Given the description of an element on the screen output the (x, y) to click on. 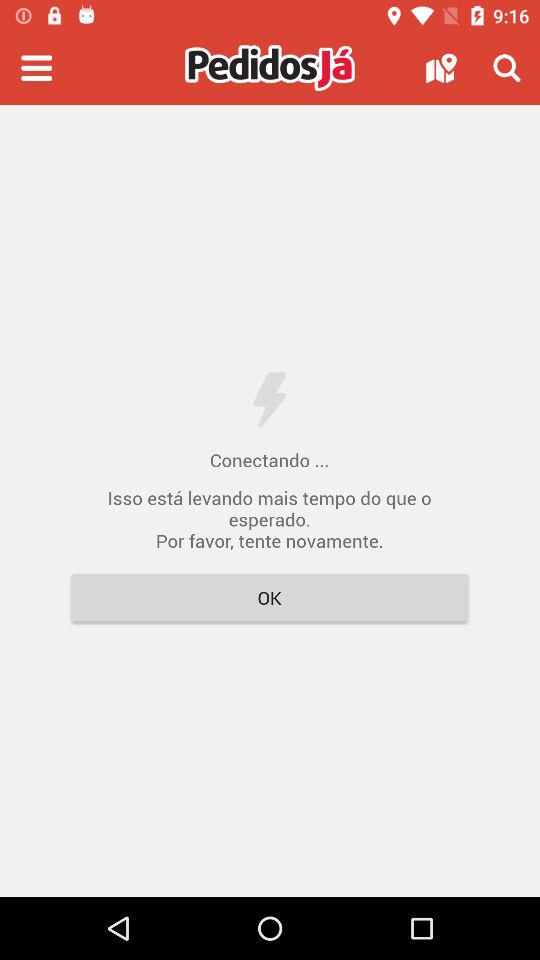
menu (36, 68)
